Given the description of an element on the screen output the (x, y) to click on. 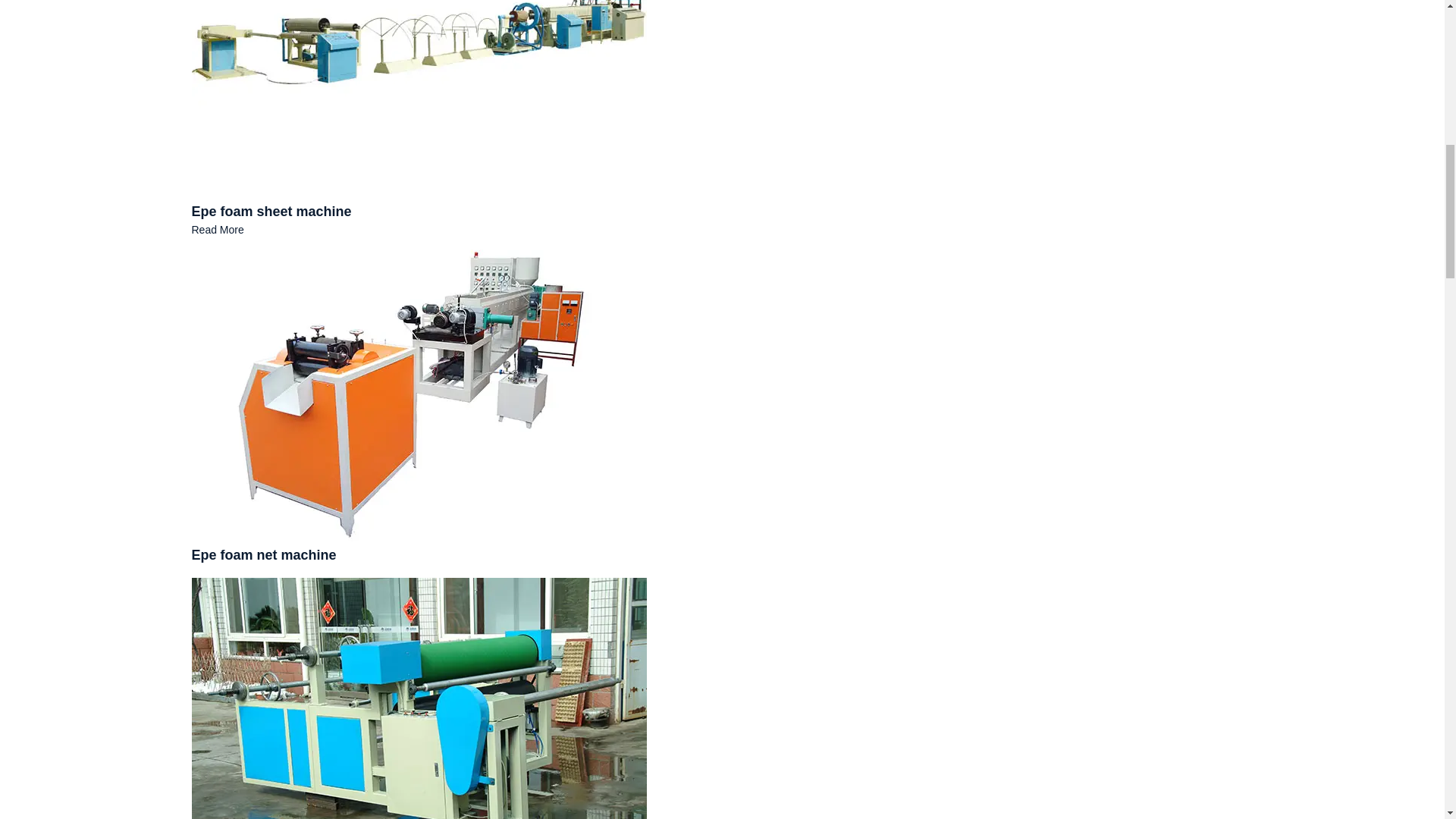
Epe foam net machine (263, 554)
Epe foam sheet machine (270, 211)
Epe foam sheet machine (216, 229)
Epe foam sheet machine (418, 37)
Epe foam net machine (418, 388)
Read More (216, 229)
Epe foam sheet machine (270, 211)
Laminating machine (418, 728)
Epe foam net machine (263, 554)
